Given the description of an element on the screen output the (x, y) to click on. 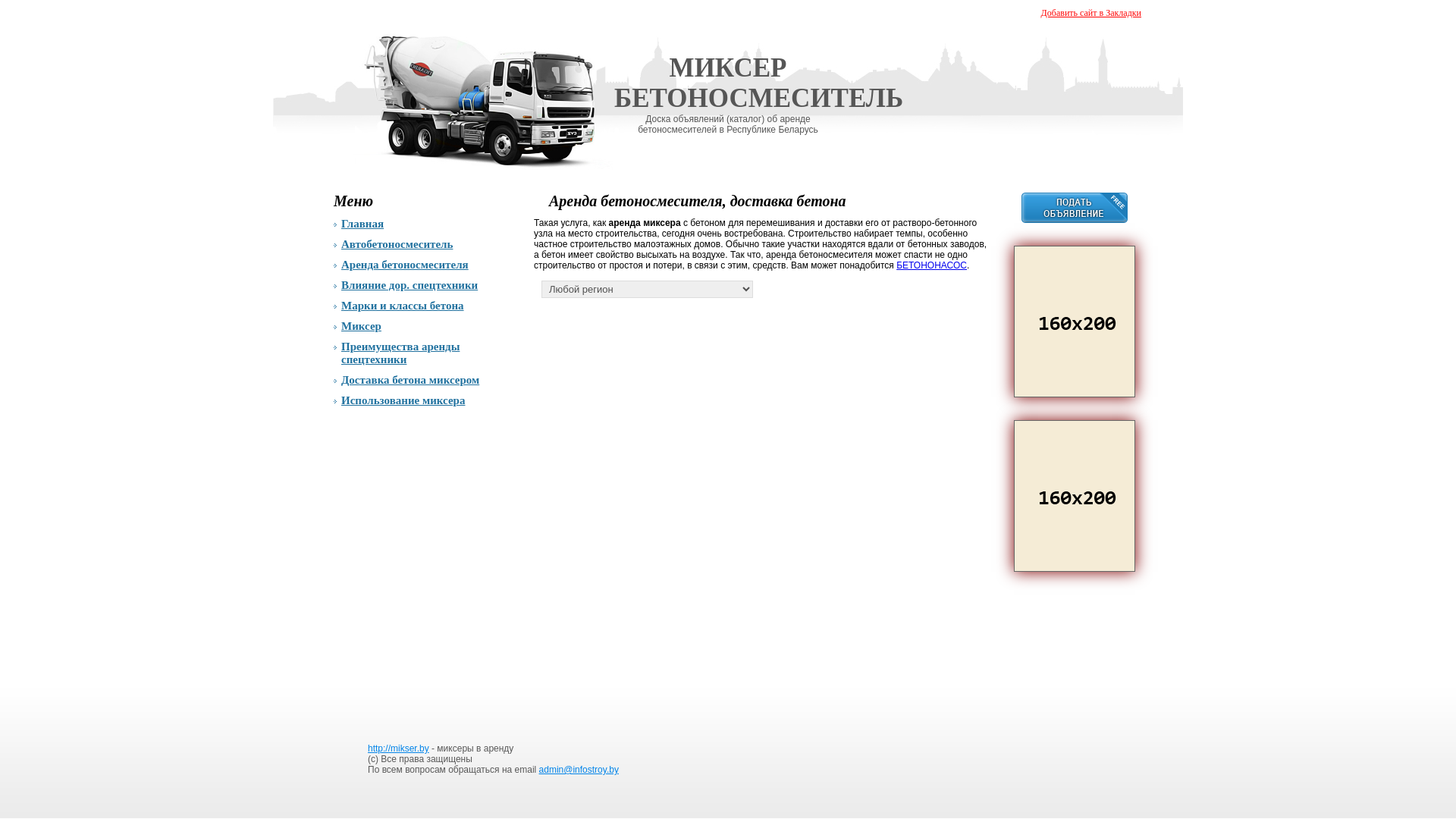
admin@infostroy.by Element type: text (578, 769)
http://mikser.by Element type: text (398, 748)
